Given the description of an element on the screen output the (x, y) to click on. 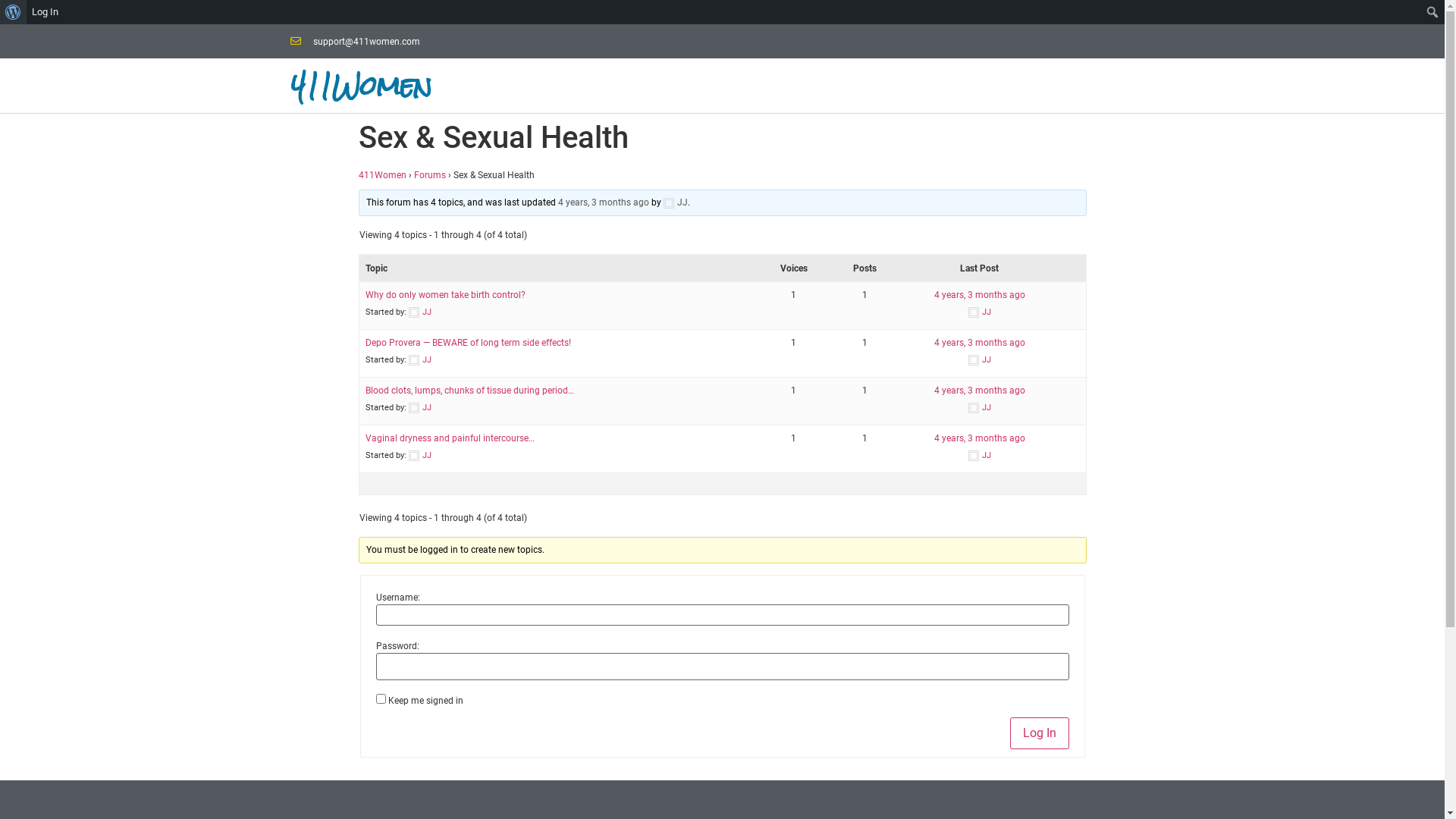
4 years, 3 months ago Element type: text (979, 342)
4 years, 3 months ago Element type: text (979, 438)
JJ Element type: text (979, 455)
JJ Element type: text (979, 359)
JJ Element type: text (418, 407)
4 years, 3 months ago Element type: text (979, 294)
JJ Element type: text (979, 311)
Search Element type: text (15, 12)
4 years, 3 months ago Element type: text (603, 202)
JJ Element type: text (418, 359)
JJ Element type: text (418, 455)
JJ Element type: text (979, 407)
Log In Element type: text (45, 12)
4 years, 3 months ago Element type: text (979, 390)
Log In Element type: text (1039, 733)
Why do only women take birth control? Element type: text (445, 294)
JJ Element type: text (418, 311)
JJ Element type: text (675, 202)
411Women Element type: text (381, 174)
Forums Element type: text (429, 174)
